Given the description of an element on the screen output the (x, y) to click on. 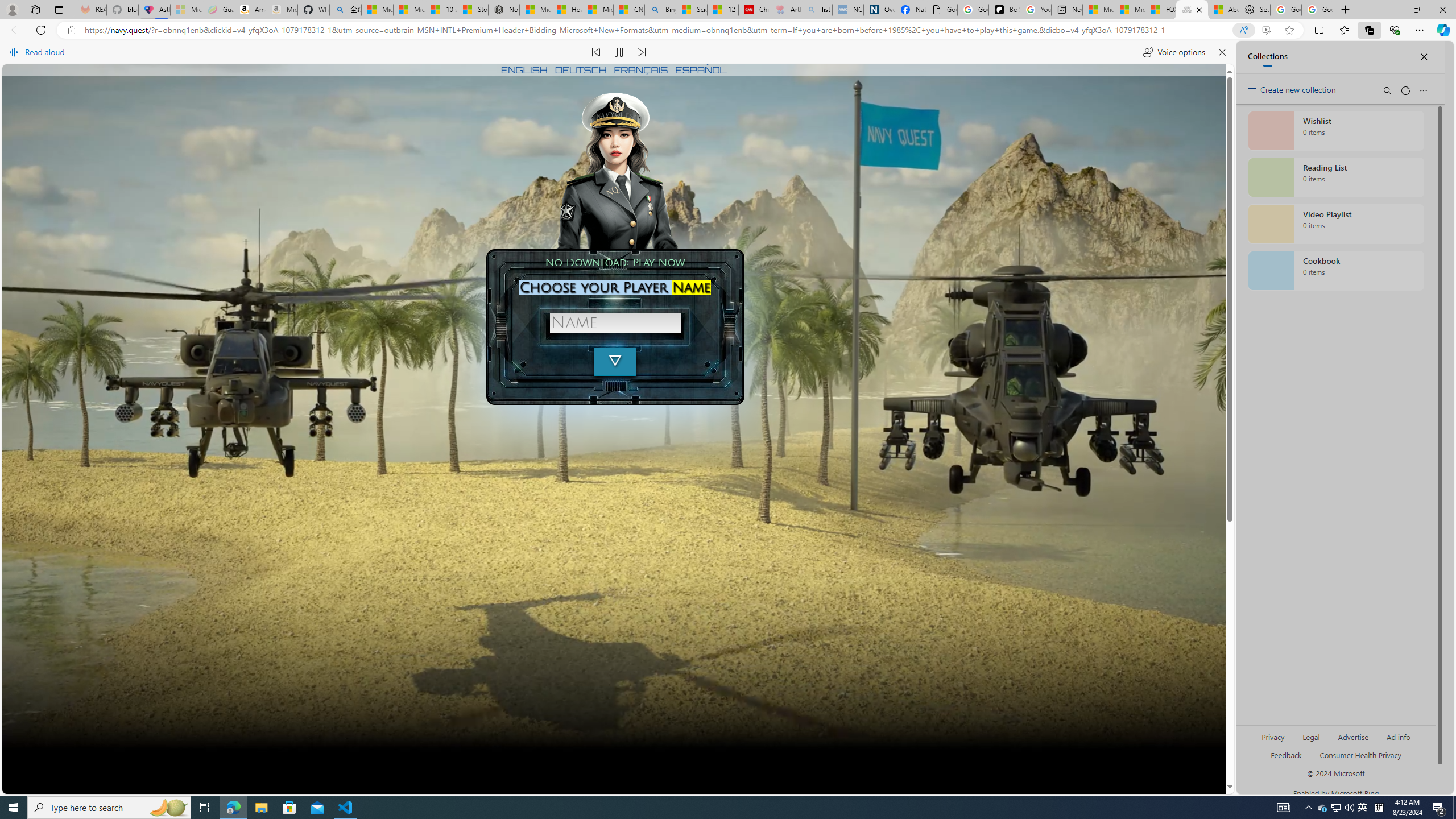
IMPRINT (614, 760)
CNN - MSN (628, 9)
Restore (1416, 9)
Personal Profile (12, 9)
HELP PAGES (750, 760)
Aberdeen, Hong Kong SAR hourly forecast | Microsoft Weather (1222, 9)
Bing (660, 9)
LOGIN (613, 778)
SUPPORT (577, 760)
Be Smart | creating Science videos | Patreon (1004, 9)
Nordace - Nordace Siena Is Not An Ordinary Backpack (503, 9)
Tab actions menu (58, 9)
Microsoft-Report a Concern to Bing - Sleeping (185, 9)
